Given the description of an element on the screen output the (x, y) to click on. 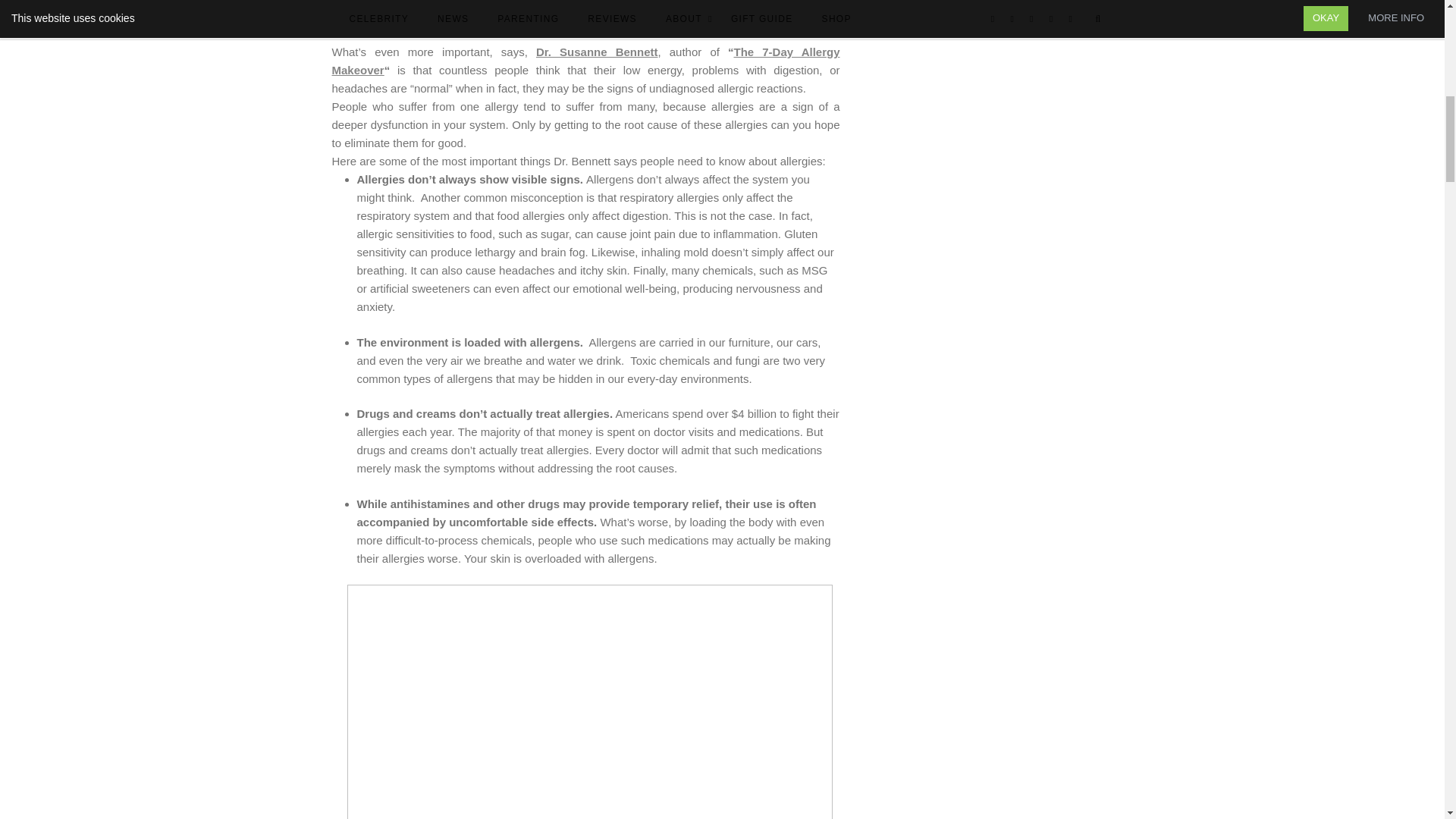
Dr. Susanne Bennett (596, 51)
The 7-Day Allergy Makeover (585, 60)
